Given the description of an element on the screen output the (x, y) to click on. 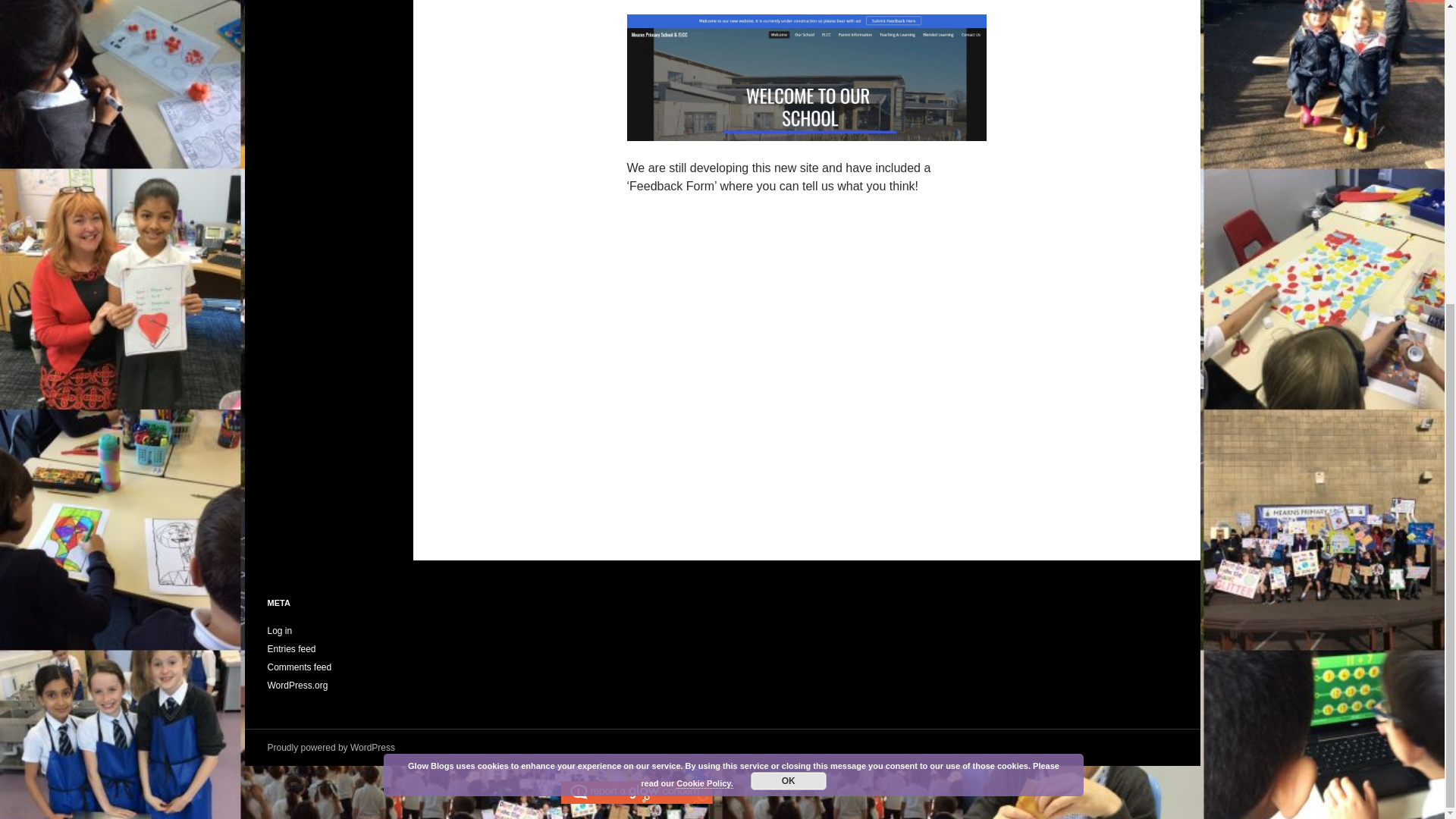
Cookie Policy. (704, 306)
Proudly powered by WordPress (330, 747)
Cookie policy (787, 792)
WordPress.org (296, 685)
Comments feed (298, 666)
Entries feed (290, 648)
OK (789, 303)
Privacy policy (853, 792)
Log in (279, 630)
